Given the description of an element on the screen output the (x, y) to click on. 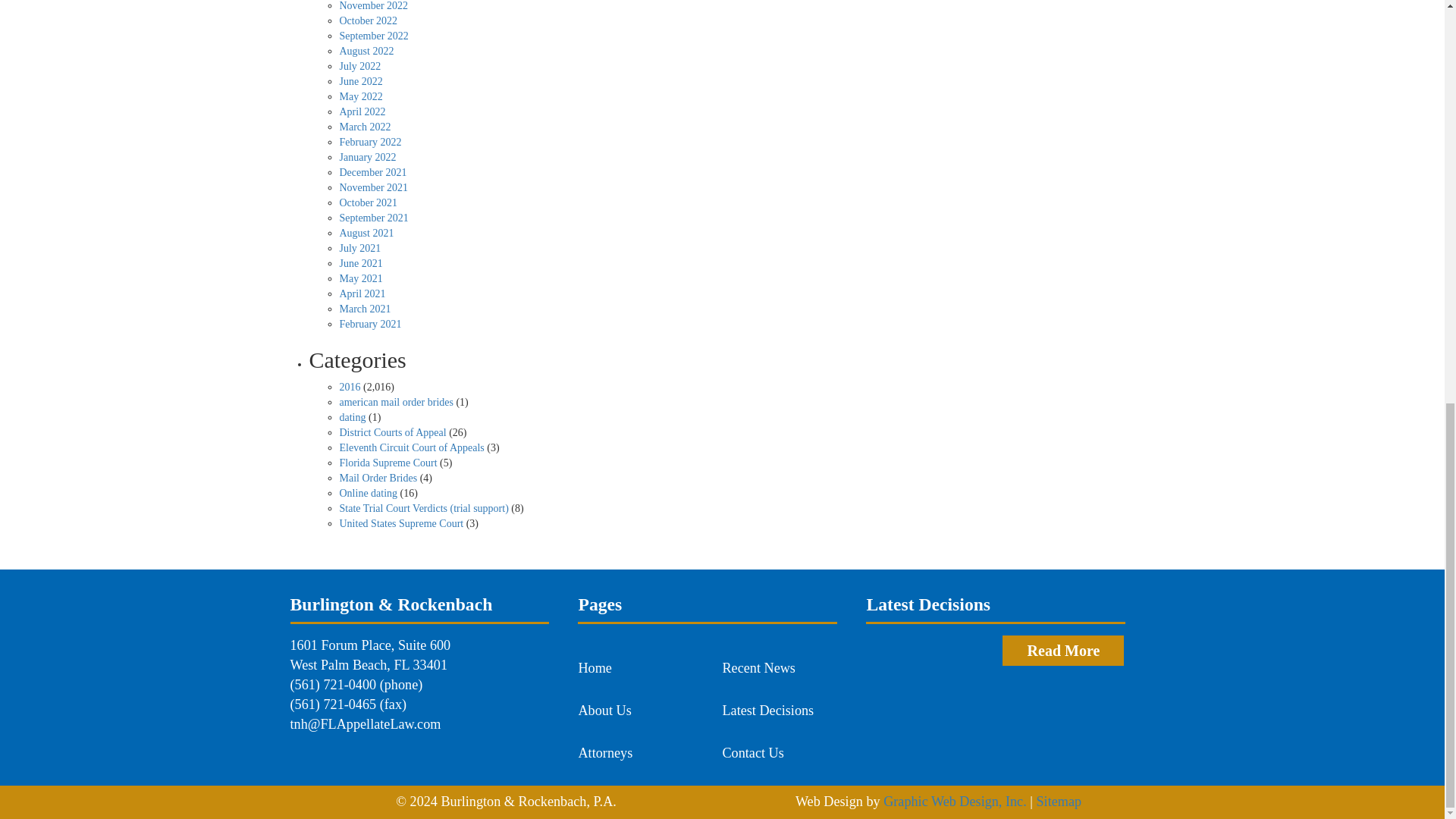
Web Designer West Palm Beach (954, 801)
